Given the description of an element on the screen output the (x, y) to click on. 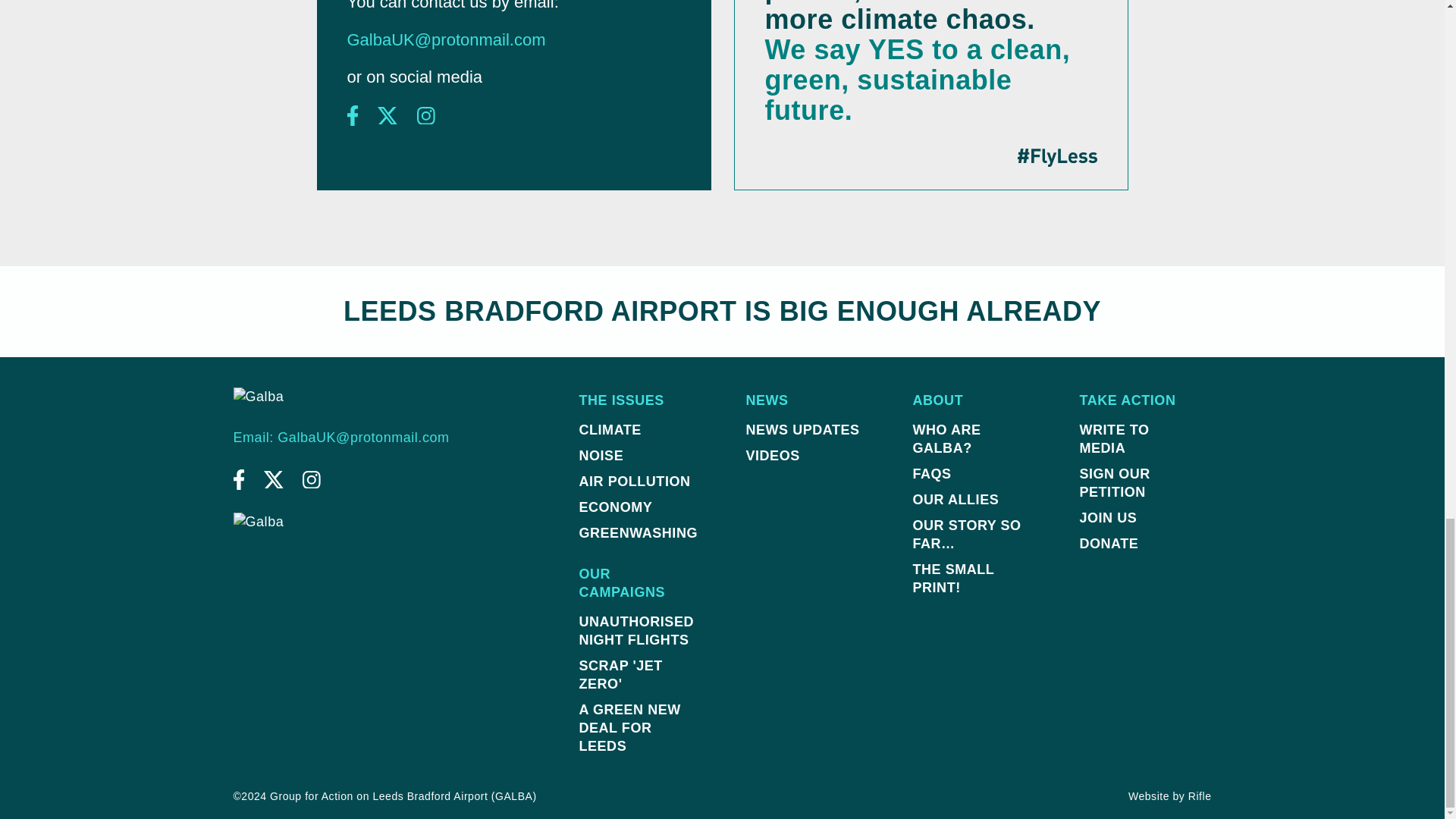
TAKE ACTION (1139, 400)
CLIMATE (638, 429)
THE SMALL PRINT! (971, 578)
OUR ALLIES (971, 499)
THE ISSUES (638, 400)
A GREEN NEW DEAL FOR LEEDS (638, 727)
NEWS UPDATES (805, 429)
OUR CAMPAIGNS (638, 583)
ABOUT (971, 400)
GREENWASHING (638, 533)
